Given the description of an element on the screen output the (x, y) to click on. 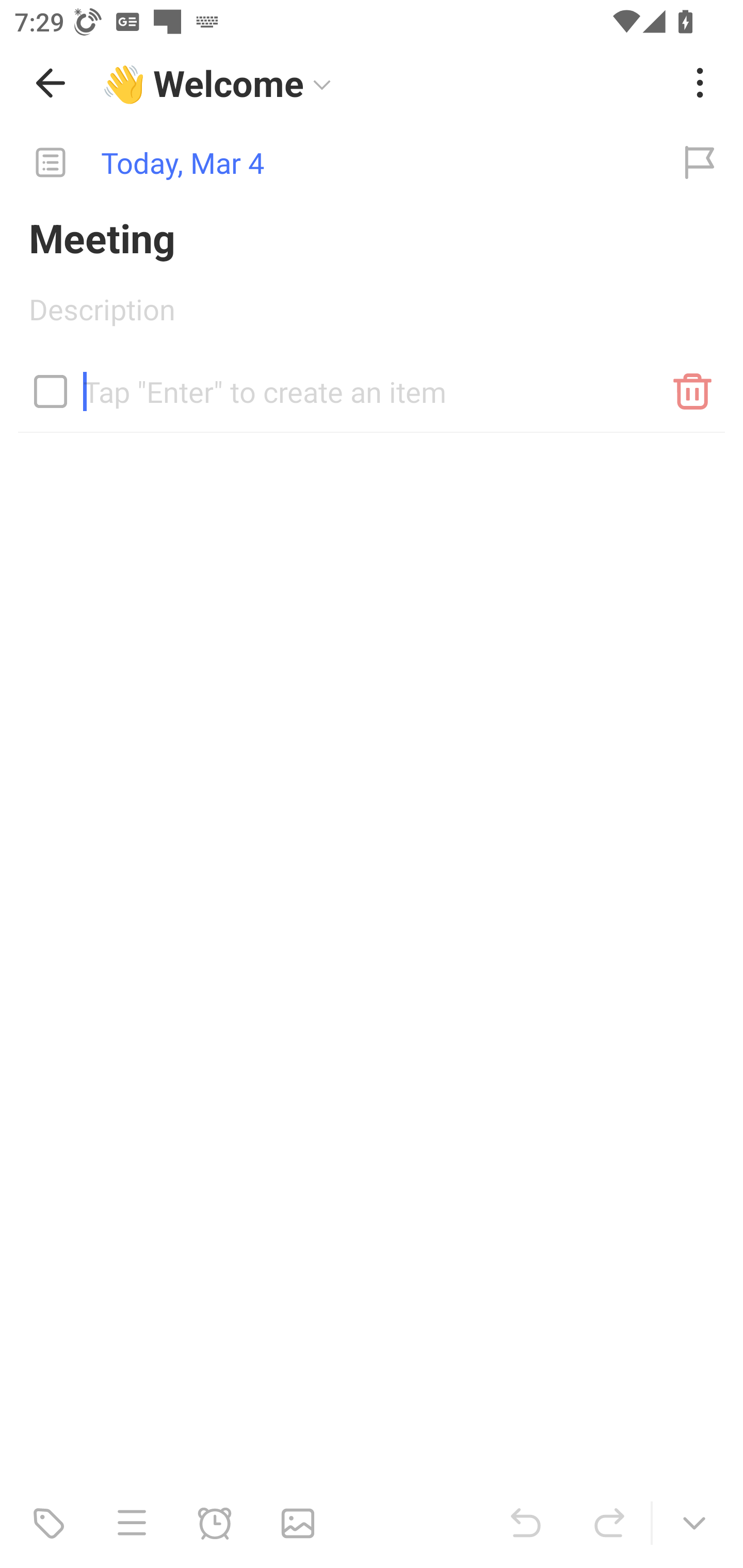
👋 Welcome (384, 82)
Today, Mar 4  (328, 163)
Meeting (371, 237)
Description (371, 315)
  (50, 390)
Tap "Enter" to create an item (371, 383)
